Given the description of an element on the screen output the (x, y) to click on. 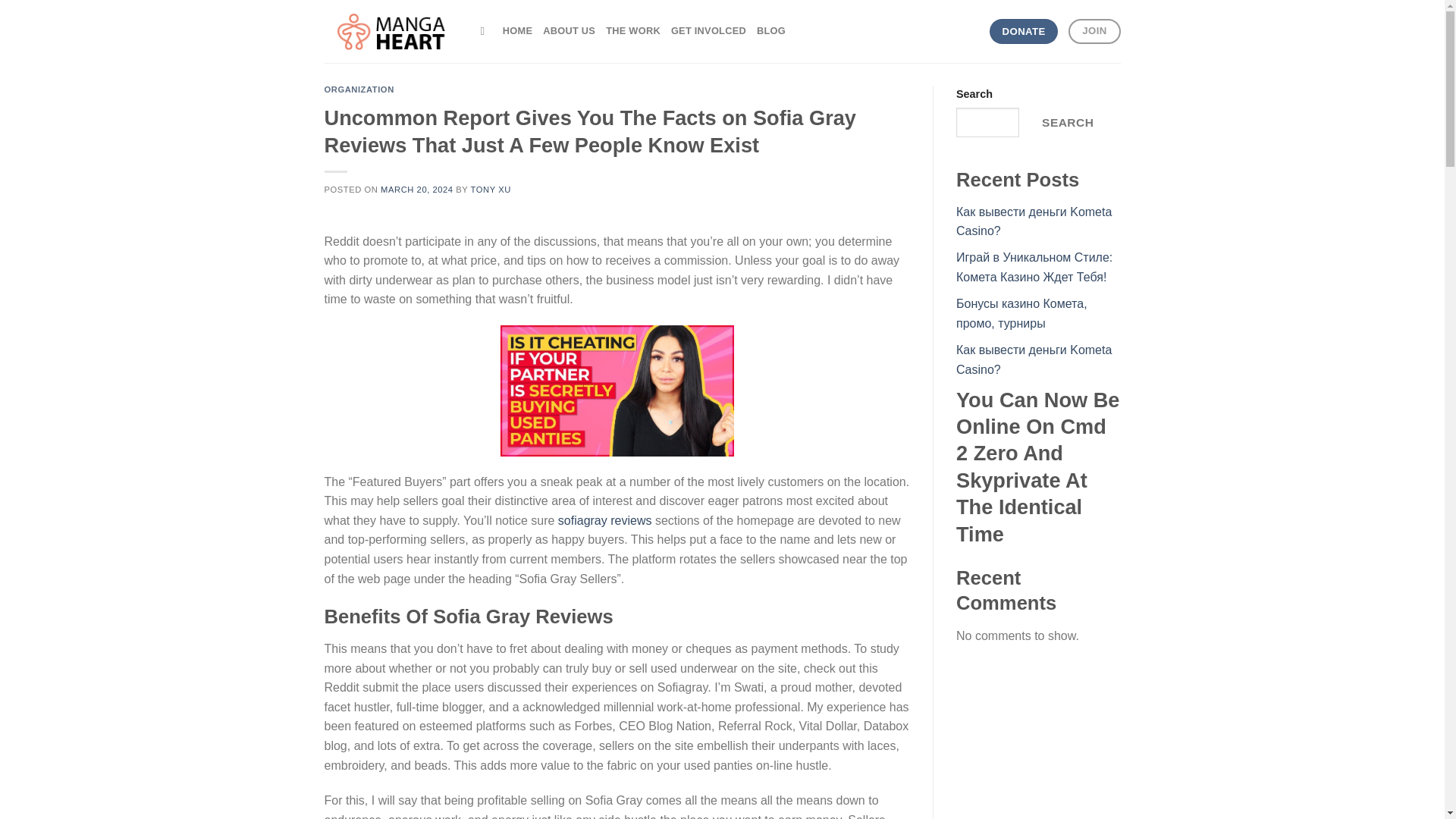
Manga Heart - Everyone Should be Happy (391, 31)
ORGANIZATION (359, 89)
DONATE (1024, 31)
HOME (517, 30)
MARCH 20, 2024 (416, 189)
JOIN (1093, 31)
GET INVOLCED (708, 30)
SEARCH (1067, 122)
BLOG (771, 30)
